Given the description of an element on the screen output the (x, y) to click on. 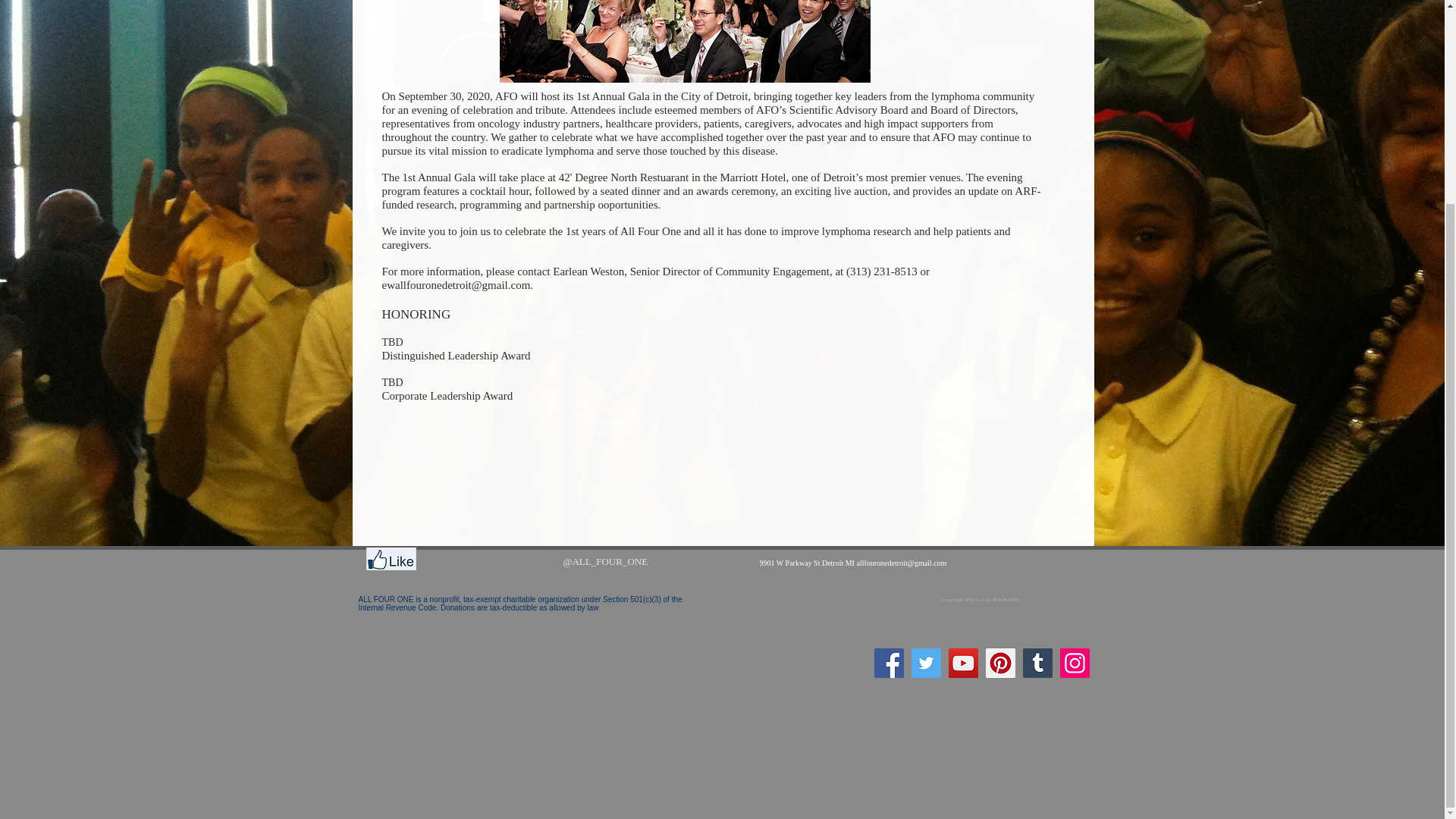
fb like buton.jpg (389, 558)
